Given the description of an element on the screen output the (x, y) to click on. 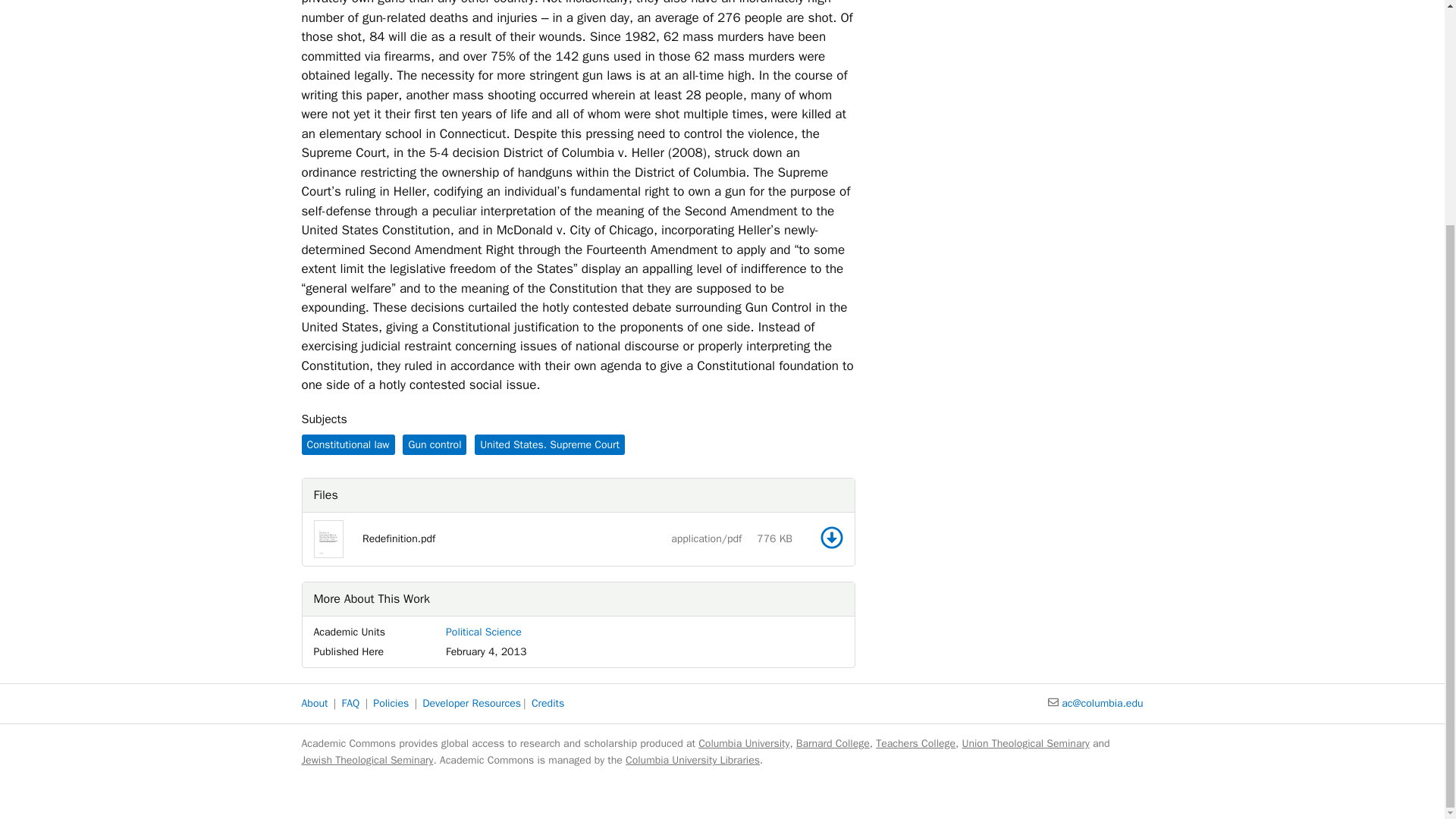
Jewish Theological Seminary (367, 759)
Credits (547, 703)
Columbia University (743, 743)
Columbia University Libraries (693, 759)
Teachers College (915, 743)
Gun control (434, 444)
Political Science (483, 631)
United States. Supreme Court (549, 444)
Union Theological Seminary (1024, 743)
Download file (832, 537)
